Given the description of an element on the screen output the (x, y) to click on. 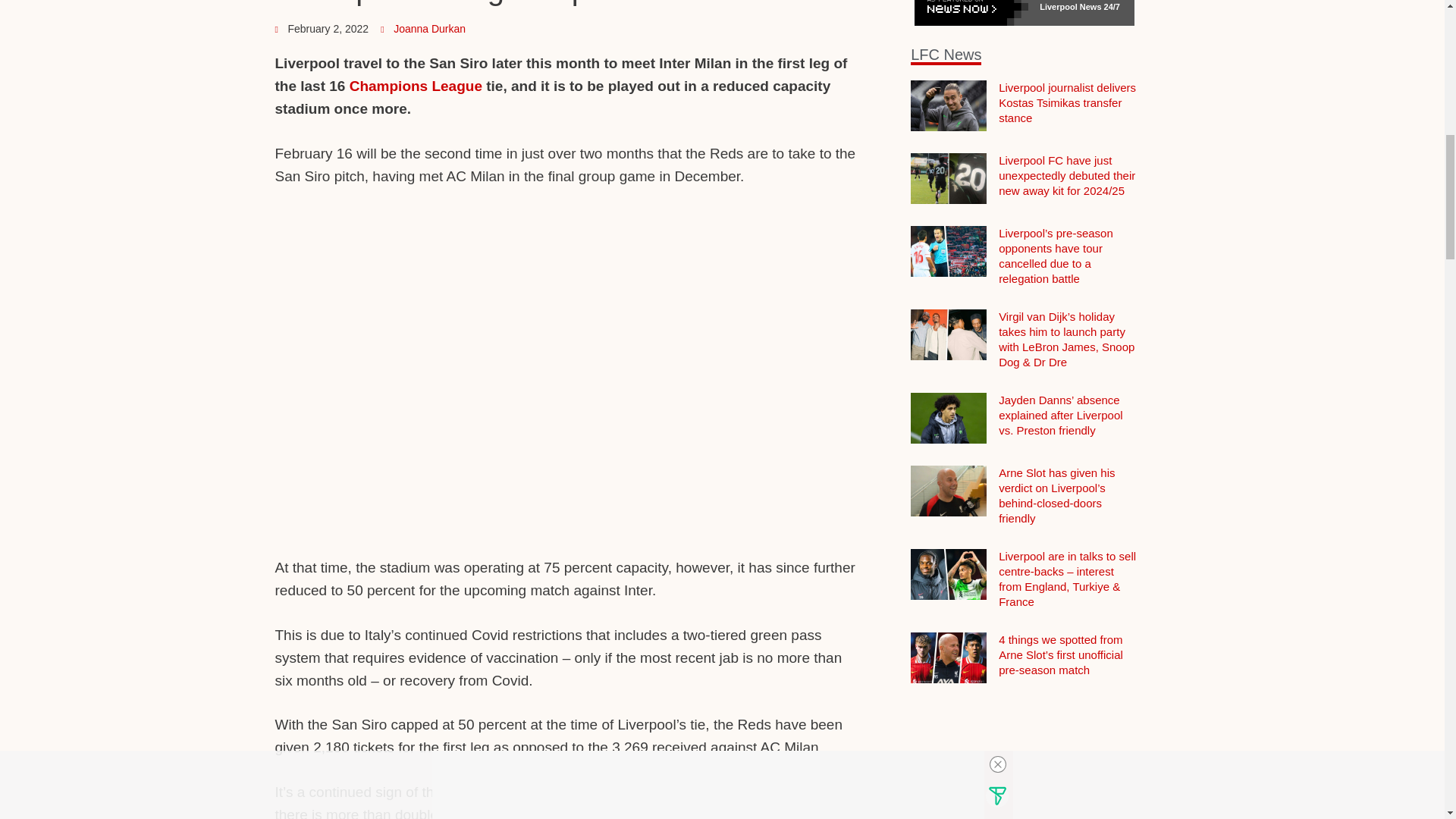
3rd party ad content (568, 243)
